Given the description of an element on the screen output the (x, y) to click on. 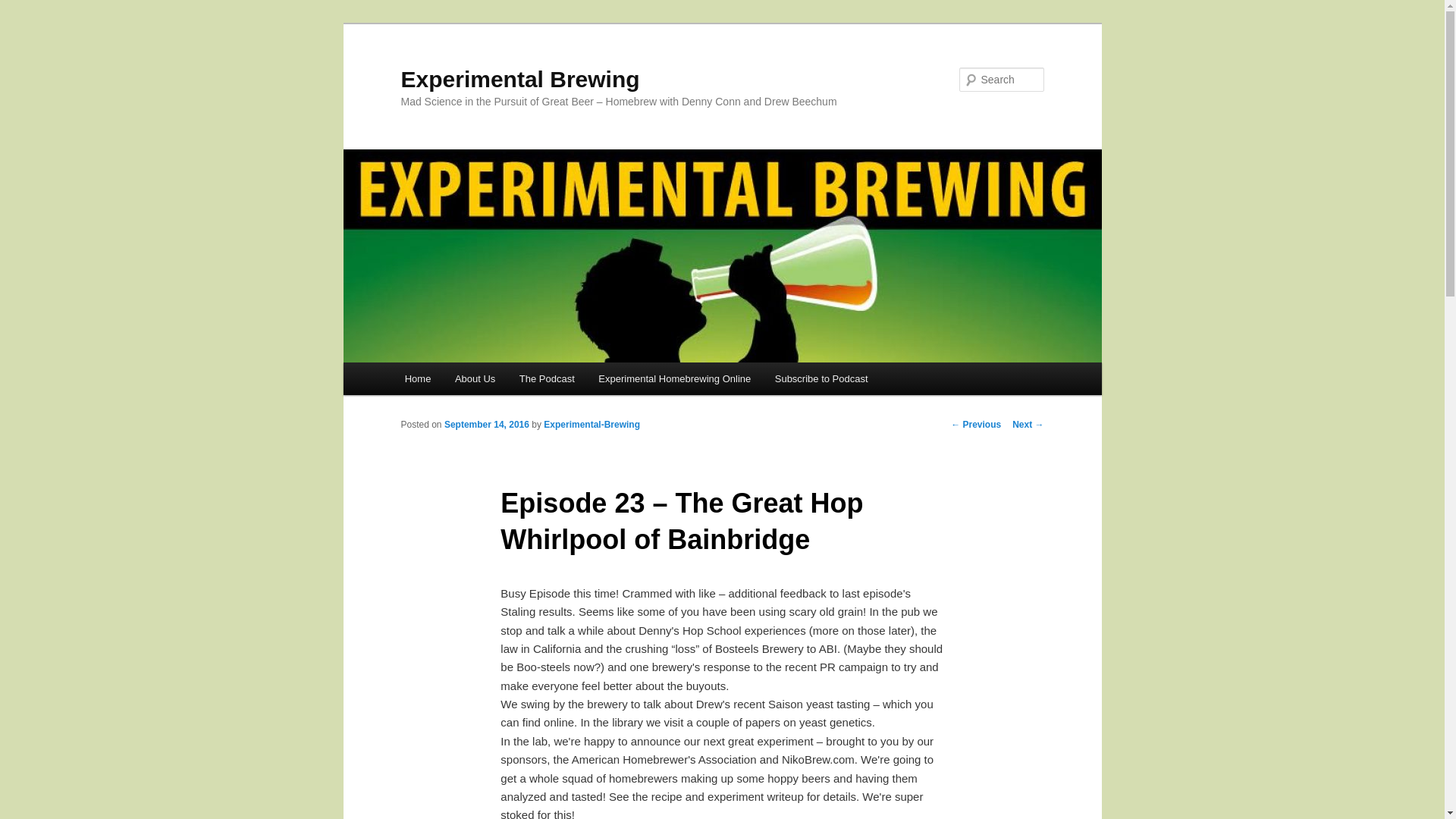
Search (24, 8)
Home (417, 378)
View all posts by Experimental-Brewing (591, 424)
Experimental Brewing (519, 78)
Experimental Homebrewing Online (674, 378)
September 14, 2016 (486, 424)
Subscribe to Podcast (820, 378)
7:00 am (486, 424)
Experimental-Brewing (591, 424)
The Podcast (546, 378)
About Us (474, 378)
